Given the description of an element on the screen output the (x, y) to click on. 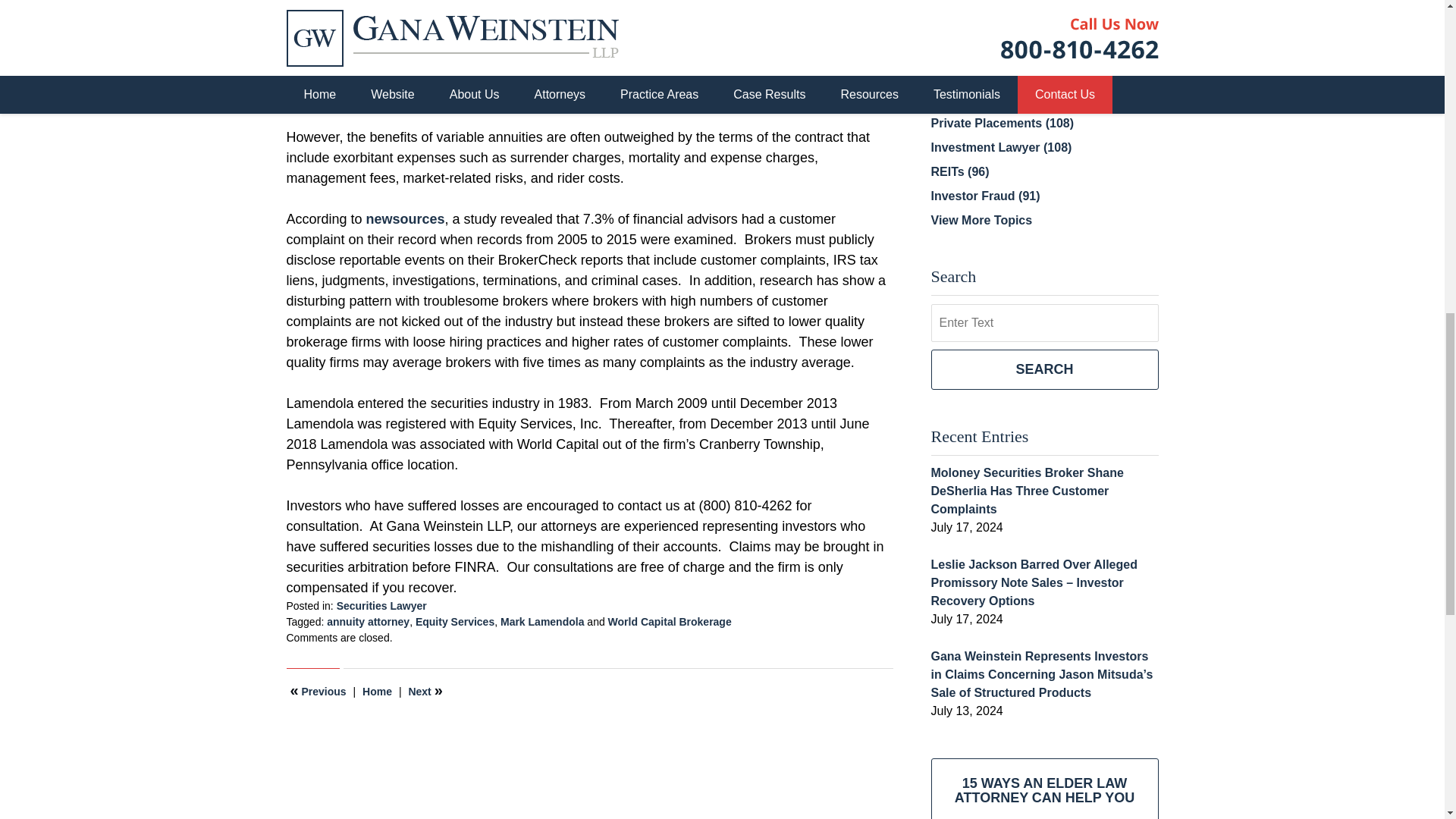
View all posts tagged with annuity attorney (367, 621)
Advisor Daniel  Levine Barred Over Claims of Misconduct (318, 691)
World Capital Brokerage (670, 621)
View all posts tagged with World Capital Brokerage (670, 621)
annuity attorney (367, 621)
Securities Lawyer (381, 605)
newsources (405, 218)
View all posts in Securities Lawyer (381, 605)
View all posts tagged with Mark Lamendola (541, 621)
